Given the description of an element on the screen output the (x, y) to click on. 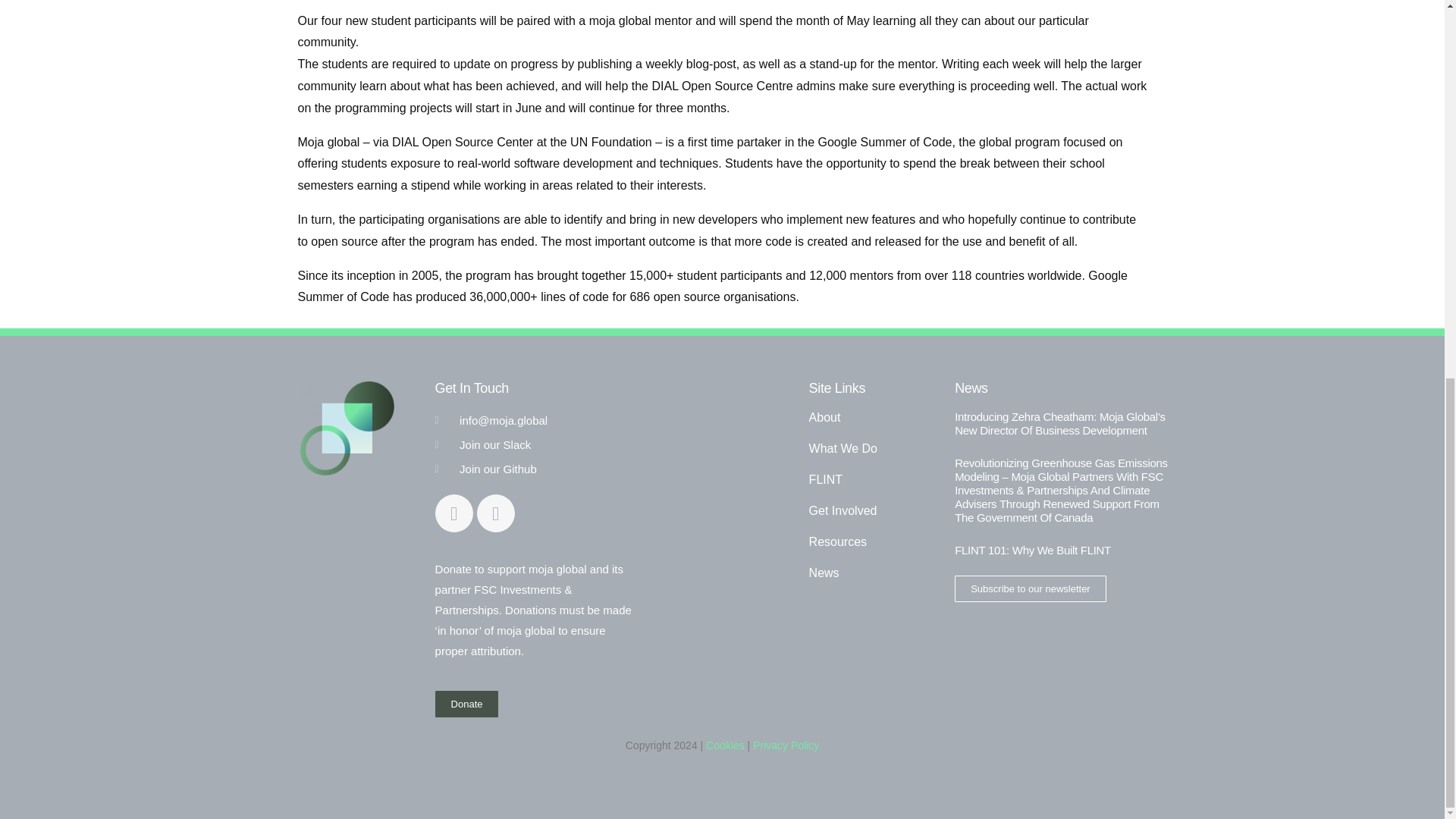
Join our Slack (537, 444)
About (874, 417)
Subscribe to our newsletter (1030, 588)
Get Involved (874, 510)
What We Do (874, 448)
Donate (467, 704)
Cookies (725, 745)
FLINT (874, 479)
Join our Github (537, 468)
Privacy Policy (785, 745)
